Given the description of an element on the screen output the (x, y) to click on. 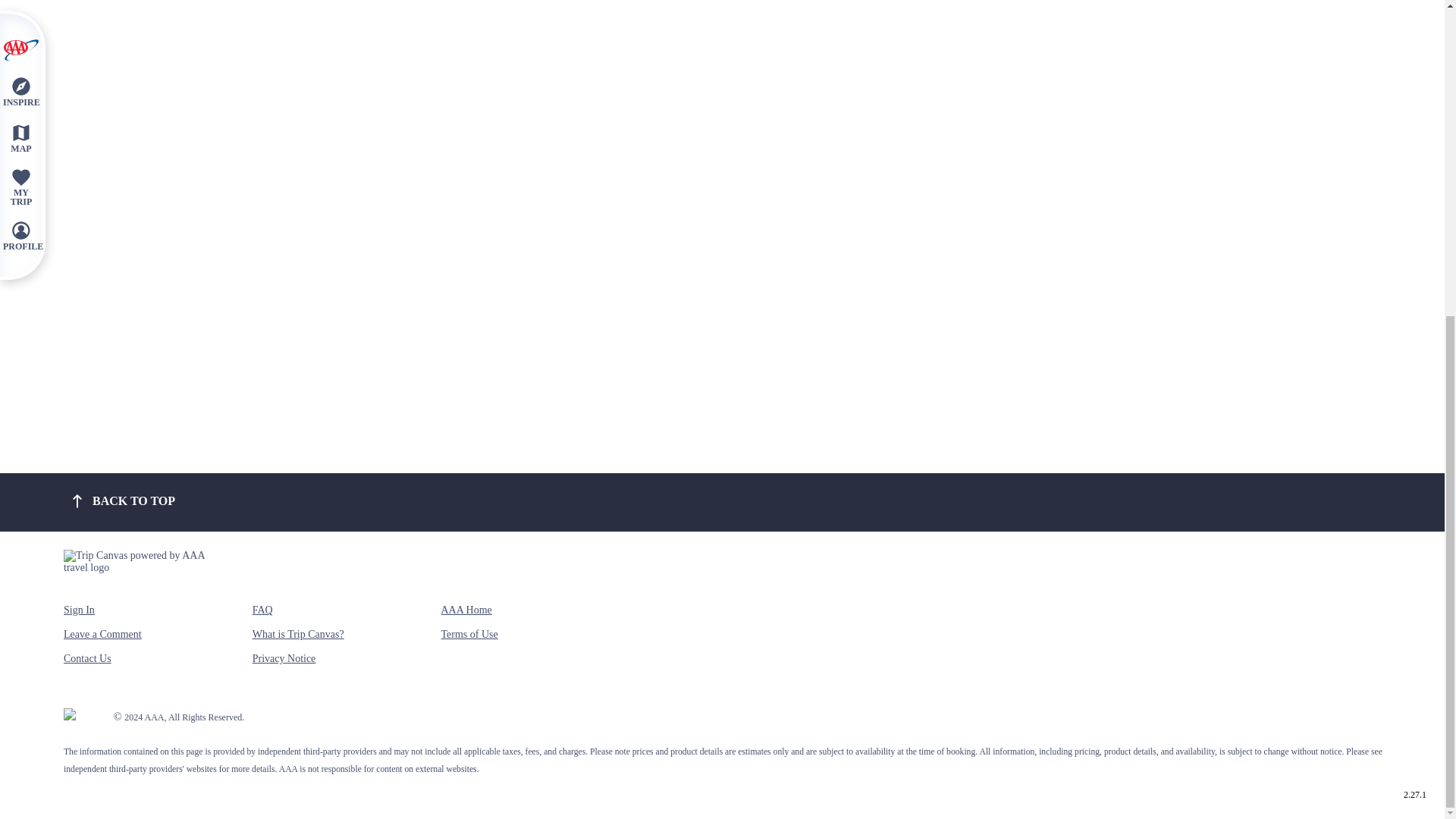
AAA Home (466, 616)
BACK TO TOP (121, 501)
Terms of Use (469, 640)
What is Trip Canvas? (297, 640)
Privacy Notice (283, 664)
Leave a Comment (102, 640)
Contact Us (88, 664)
Sign In (79, 616)
